Given the description of an element on the screen output the (x, y) to click on. 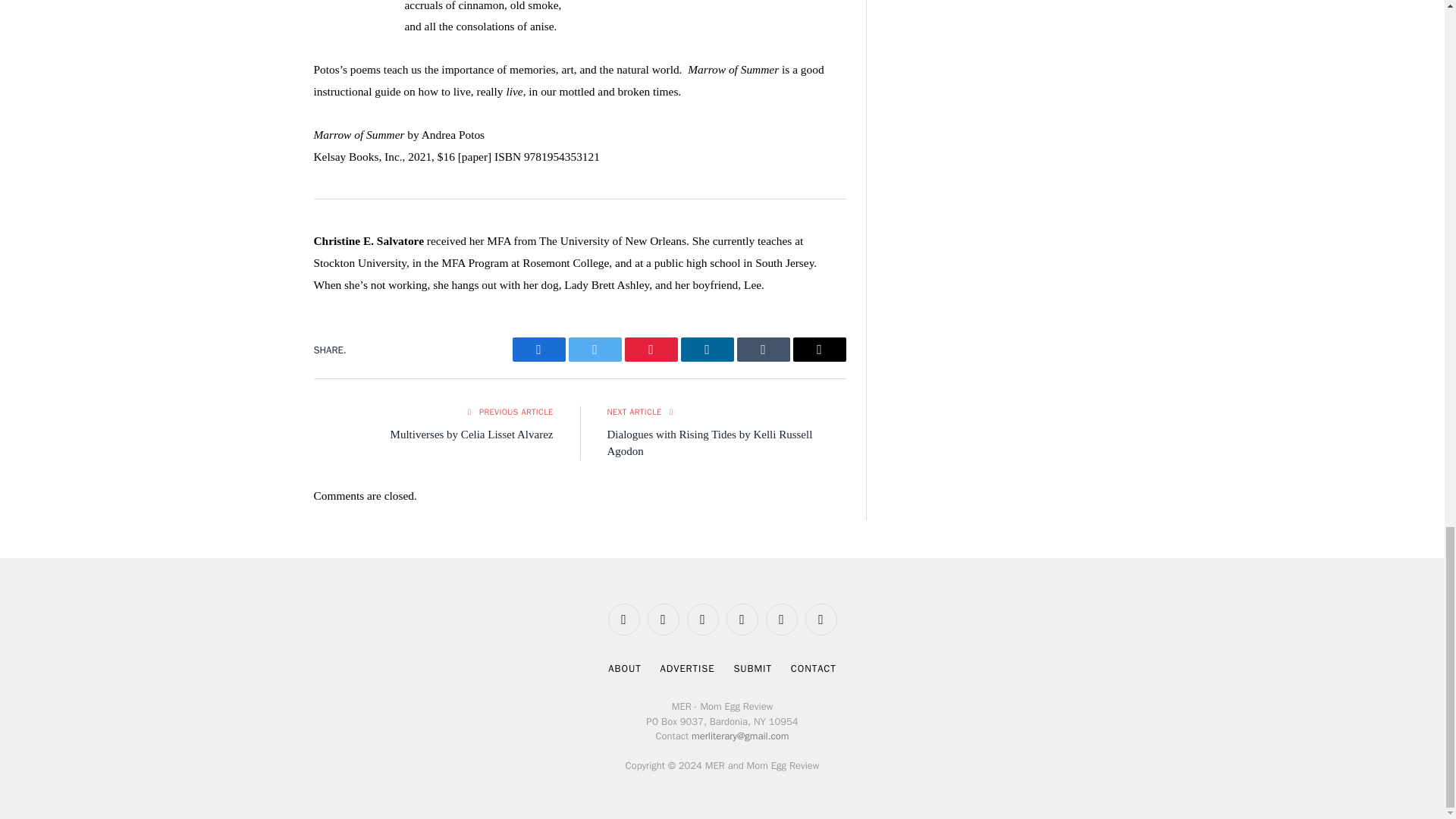
Share on LinkedIn (707, 349)
Share via Email (819, 349)
Share on Facebook (539, 349)
Share on Pinterest (651, 349)
Share on Tumblr (763, 349)
